Given the description of an element on the screen output the (x, y) to click on. 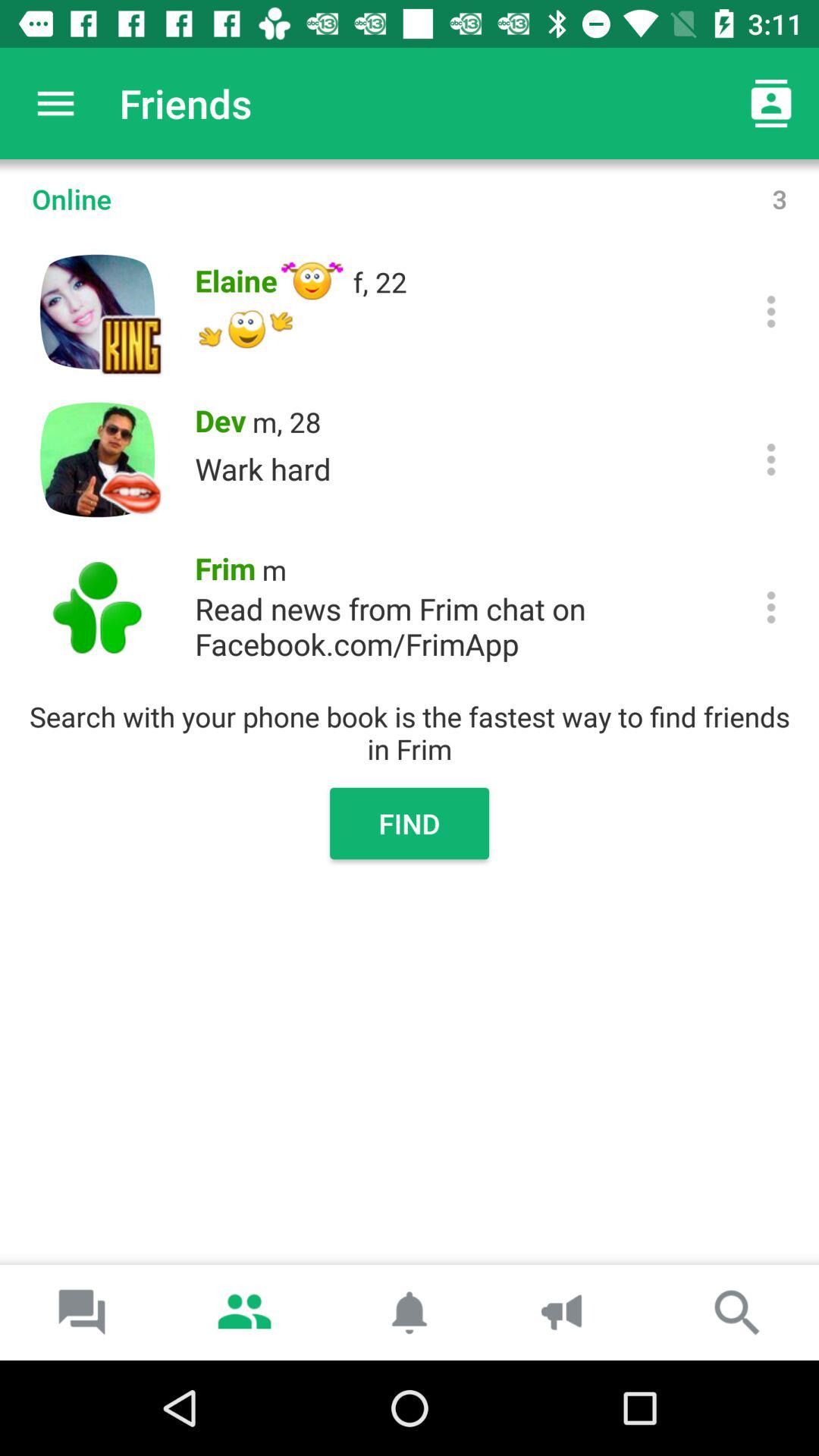
show menu (771, 459)
